Given the description of an element on the screen output the (x, y) to click on. 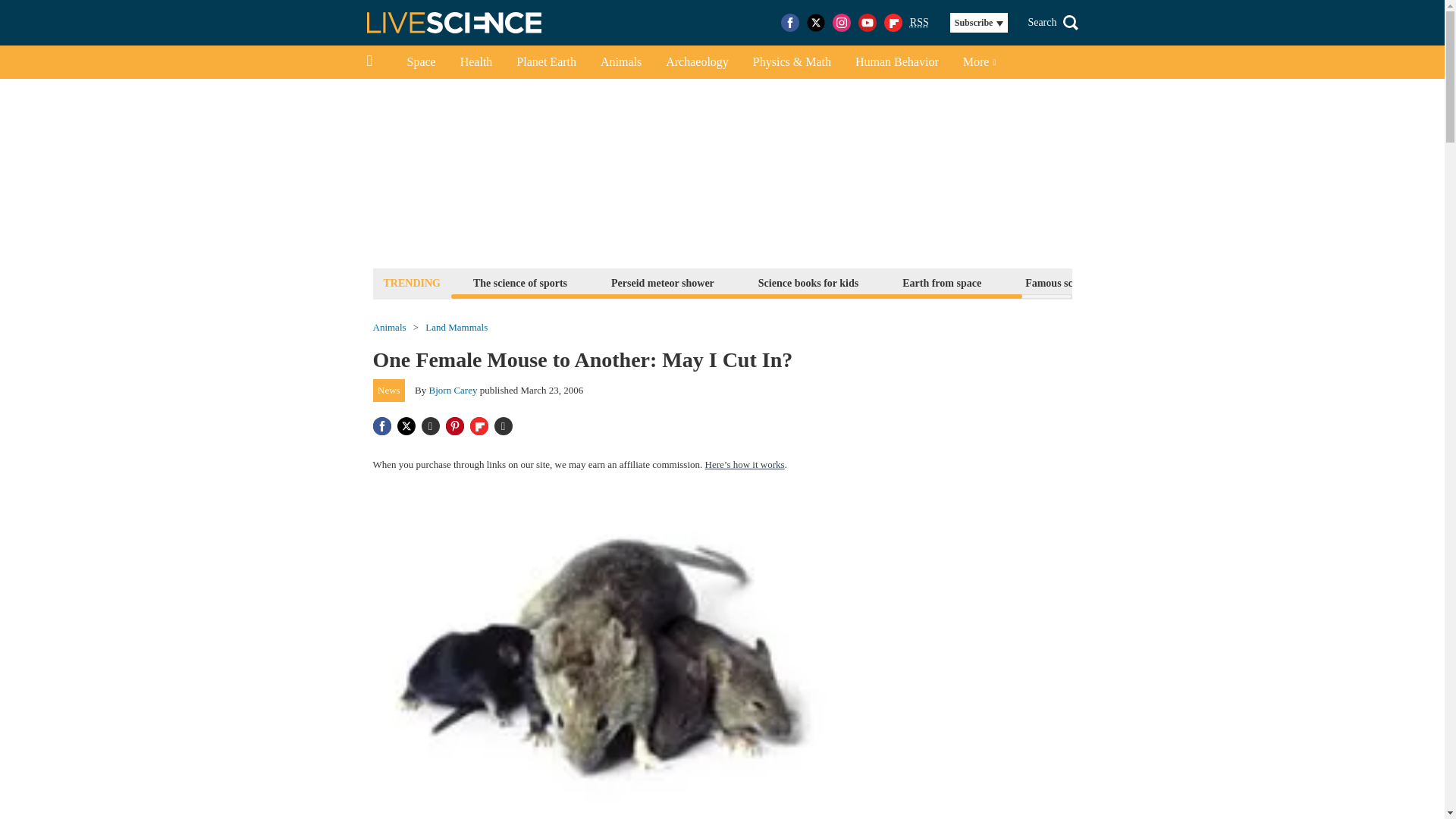
Perseid meteor shower (662, 282)
Science books for kids (807, 282)
Animals (620, 61)
Human Behavior (896, 61)
Land Mammals (456, 327)
Health (476, 61)
Animals (389, 327)
Space (420, 61)
News (389, 390)
Earth from space (941, 282)
